Given the description of an element on the screen output the (x, y) to click on. 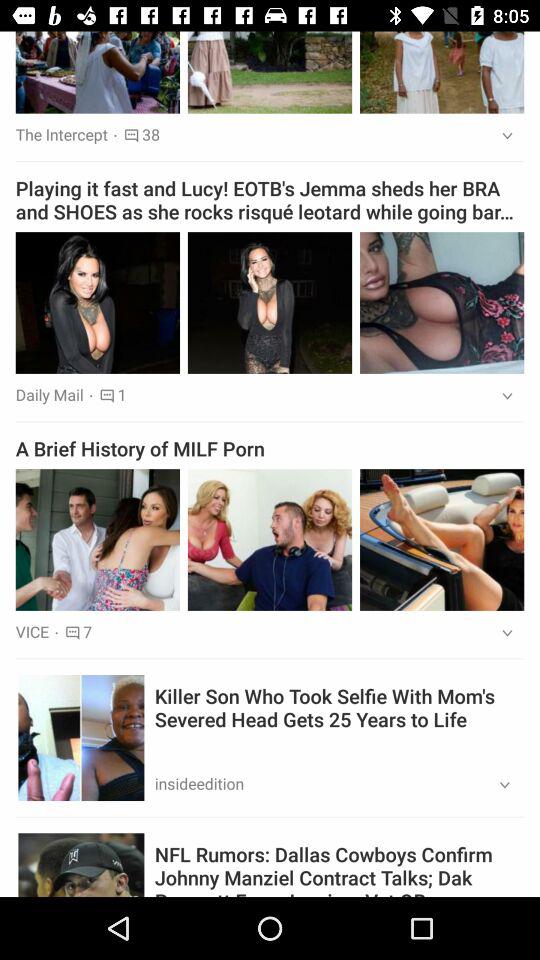
turn off the item to the right of the insideedition app (498, 785)
